Given the description of an element on the screen output the (x, y) to click on. 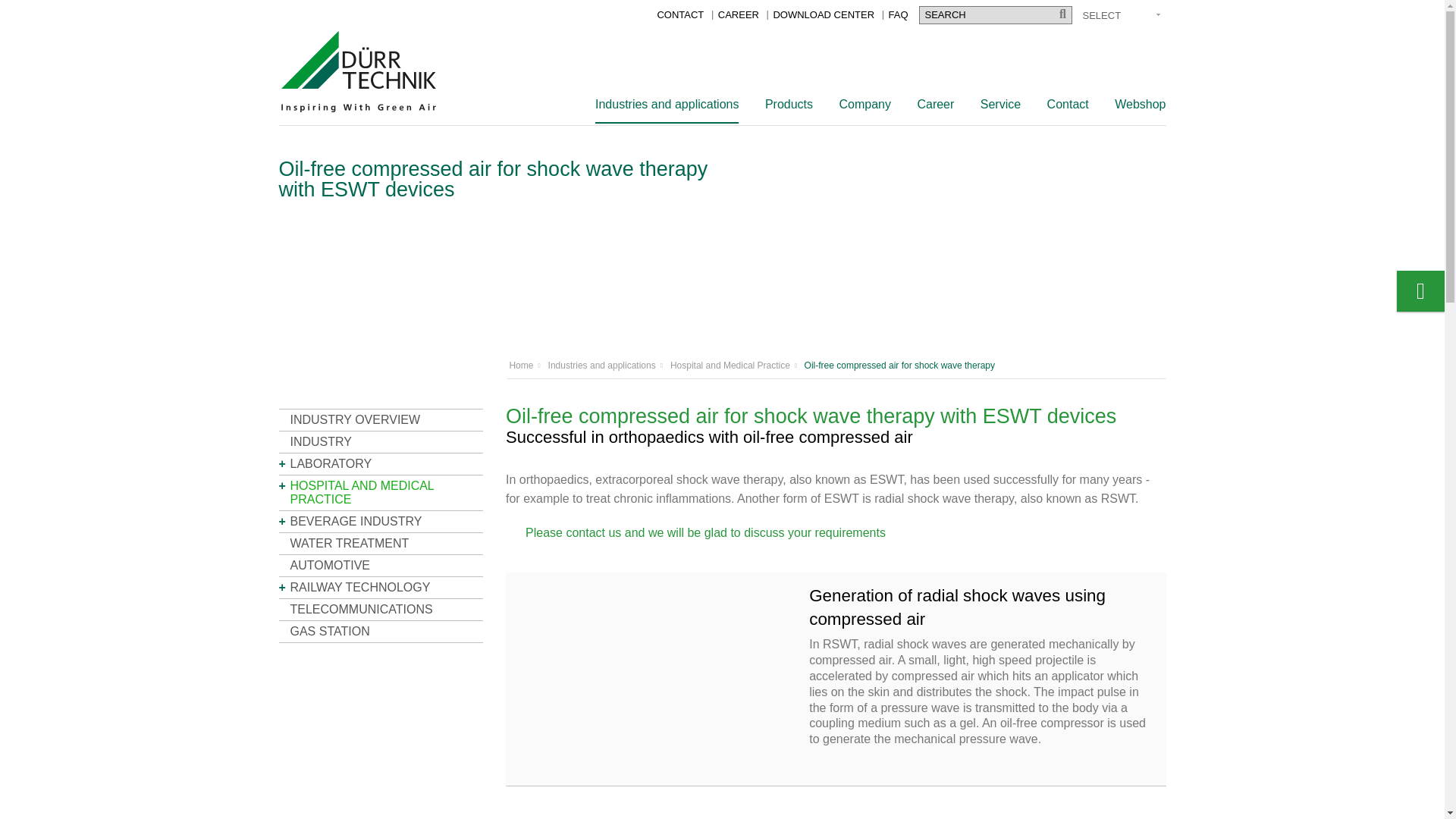
CONTACT (679, 14)
Contact (679, 14)
FAQ (897, 14)
DOWNLOAD CENTER (824, 14)
FAQ (897, 14)
DOWNLOAD CENTER (824, 14)
Job offers (737, 14)
CAREER (737, 14)
